Given the description of an element on the screen output the (x, y) to click on. 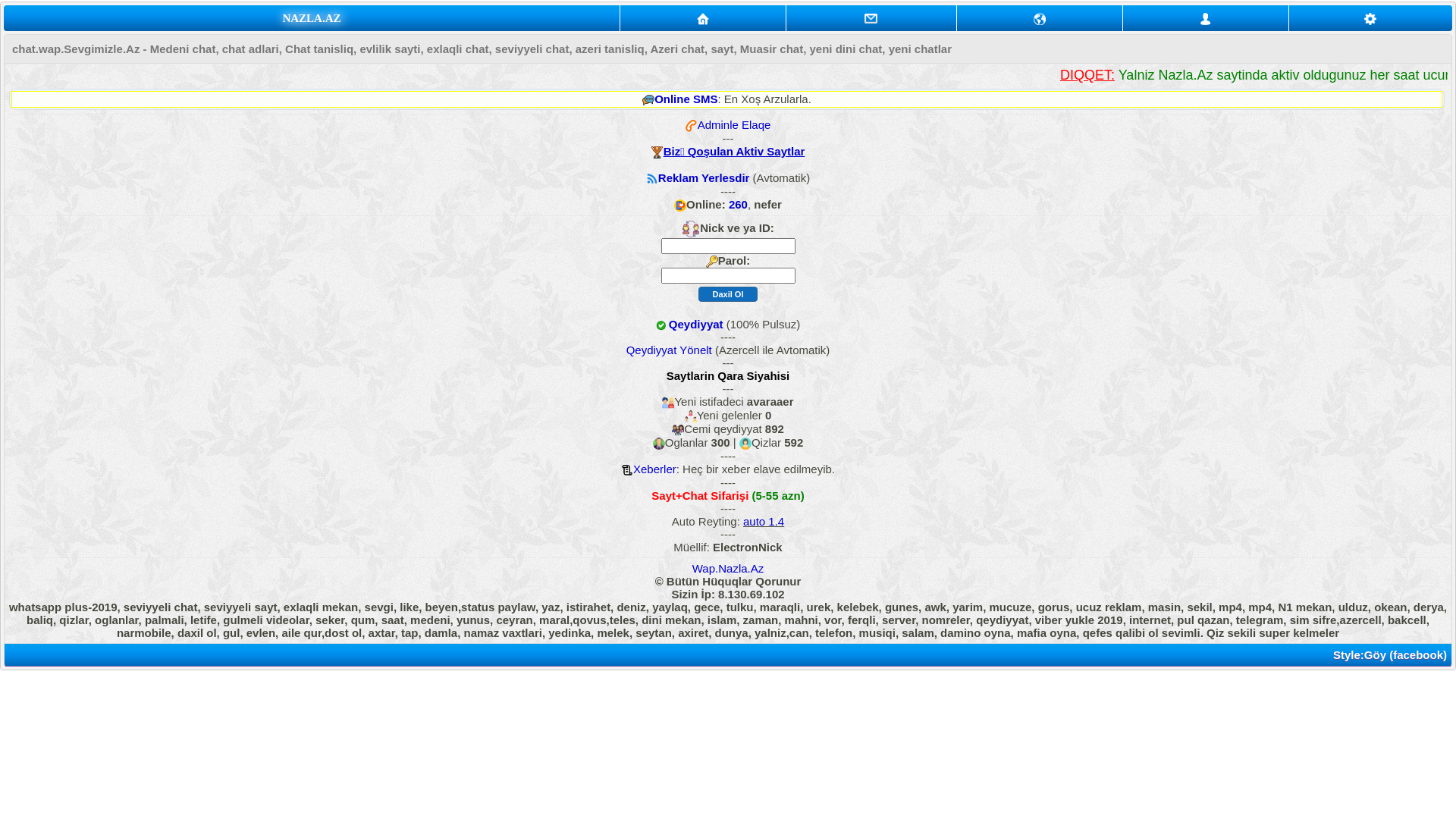
Reklam Yerlesdir Element type: text (703, 177)
Wap.Nazla.Az Element type: text (727, 567)
Qeydiyyat Element type: text (695, 323)
Ana Sehife Element type: hover (702, 18)
Qonaqlar Element type: hover (1205, 18)
Xeberler Element type: text (654, 468)
Online SMS Element type: text (685, 98)
Mektublar Element type: hover (1039, 18)
Adminle Elaqe Element type: text (734, 124)
nick Element type: hover (728, 246)
Qonaqlar Element type: hover (1205, 17)
260 Element type: text (737, 203)
Ana Sehife Element type: hover (702, 17)
auto 1.4 Element type: text (763, 520)
Saytlarin Qara Siyahisi Element type: text (728, 375)
Daxil Ol Element type: text (728, 293)
Mesajlar Element type: hover (870, 18)
Mektublar Element type: hover (1039, 17)
Mesajlar Element type: hover (870, 17)
Parol Element type: hover (728, 275)
